Given the description of an element on the screen output the (x, y) to click on. 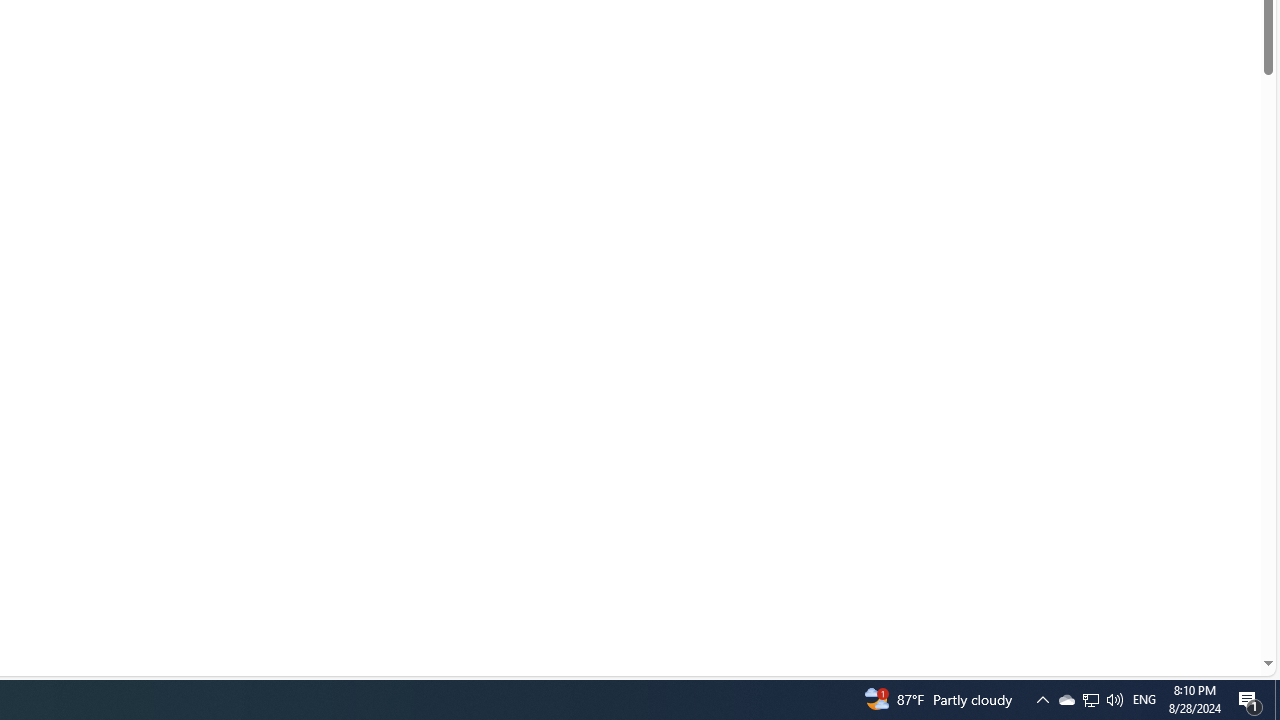
AutomationID: mfa_root (1192, 603)
Search more (1222, 604)
